Given the description of an element on the screen output the (x, y) to click on. 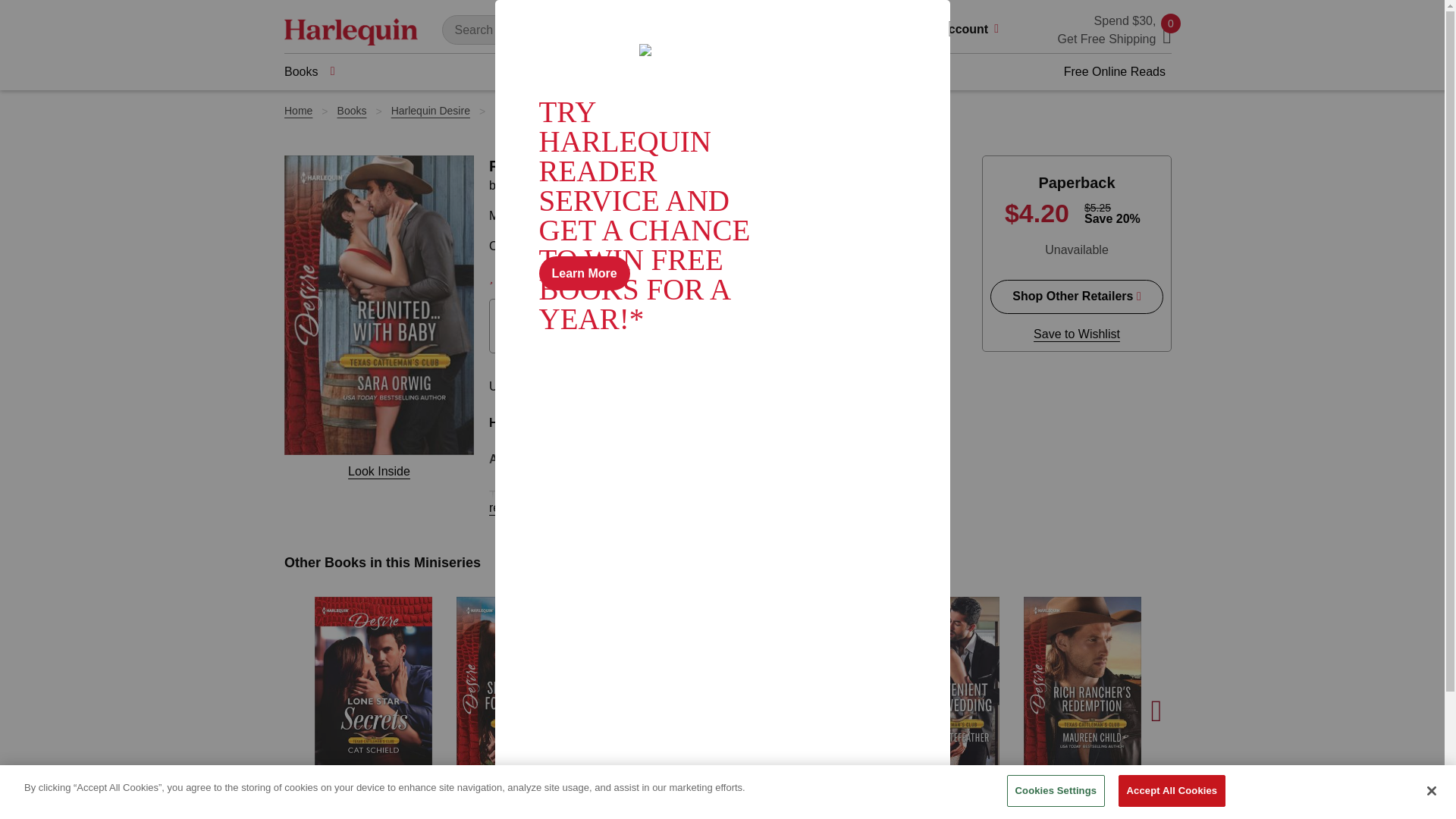
Search for other content by Sara Orwig (535, 185)
Account (974, 30)
Search for other content by Cat Shield (357, 814)
Harlequin home (350, 30)
See ratings and reviews (520, 276)
Books (308, 72)
See all reviews on Goodreads (708, 277)
